Given the description of an element on the screen output the (x, y) to click on. 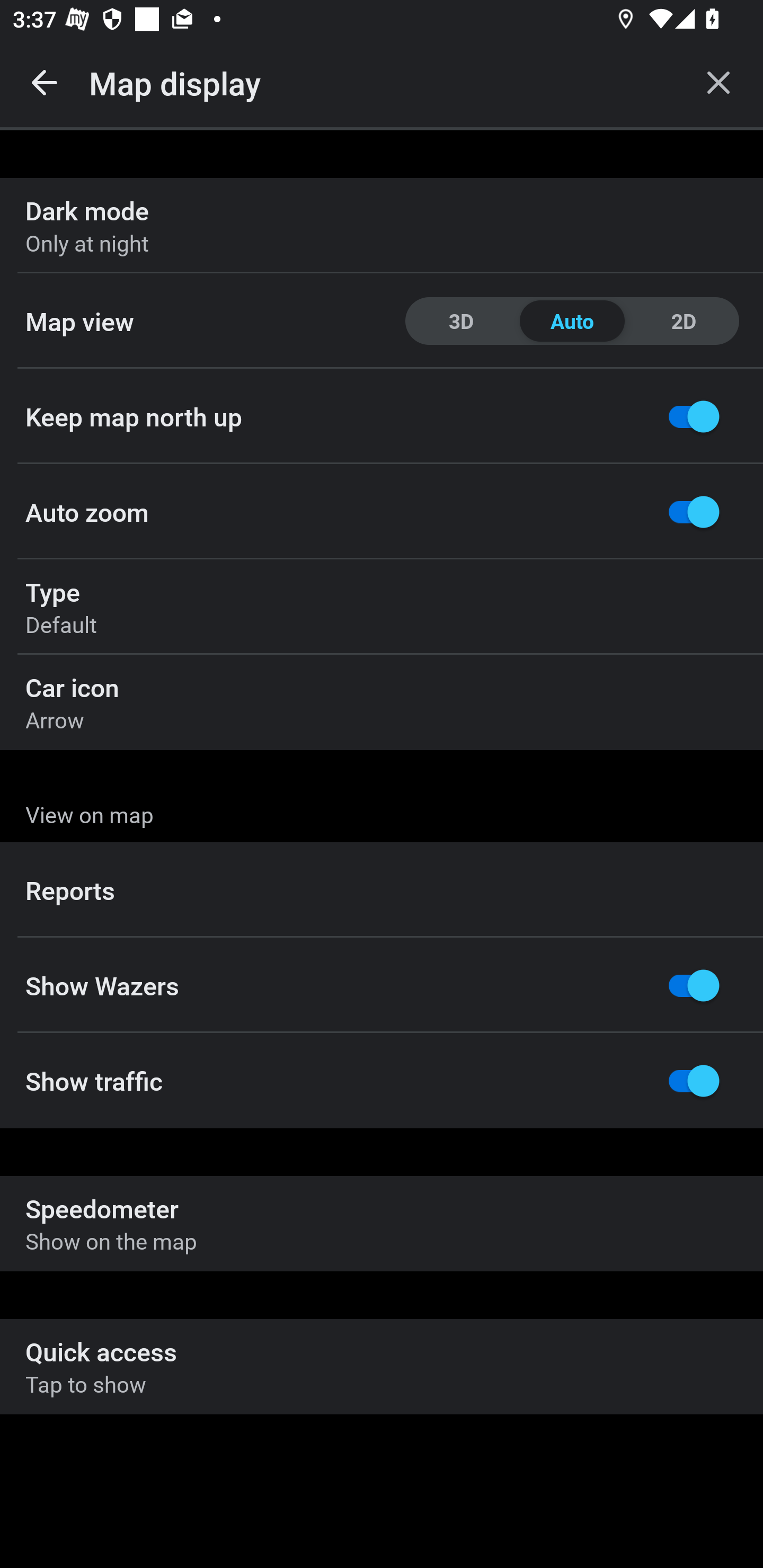
Dark mode Only at night (381, 225)
Keep map north up (381, 416)
Auto zoom (381, 511)
Type Default (381, 607)
Car icon Arrow (381, 702)
ACTION_CELL_ICON Shut off ACTION_CELL_TEXT (381, 891)
Show Wazers (381, 985)
Show traffic (381, 1080)
Speedometer Show on the map (381, 1223)
Quick access Tap to show (381, 1366)
